Given the description of an element on the screen output the (x, y) to click on. 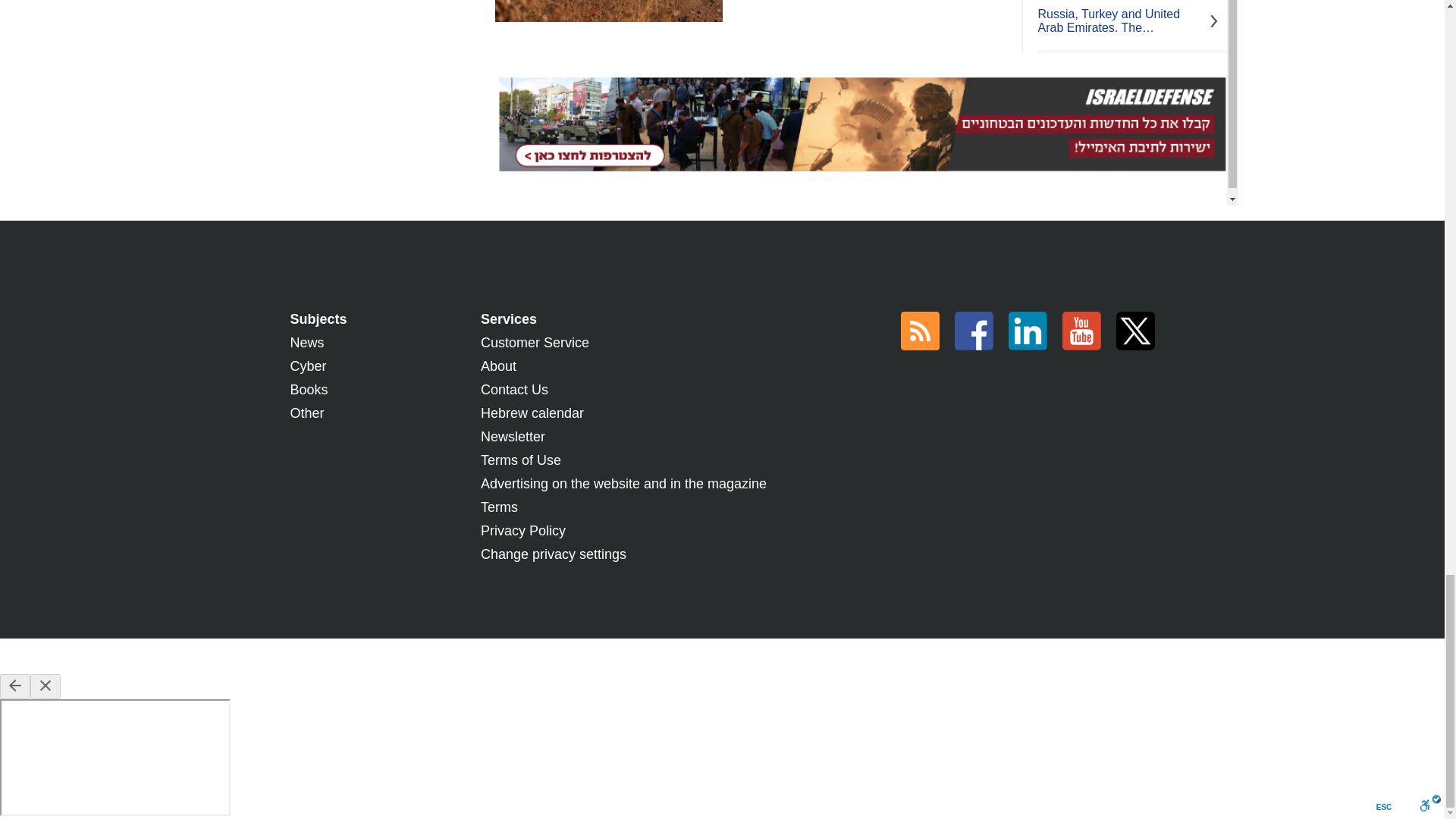
Other (306, 412)
News (306, 342)
Books (308, 389)
Cyber (307, 365)
